Given the description of an element on the screen output the (x, y) to click on. 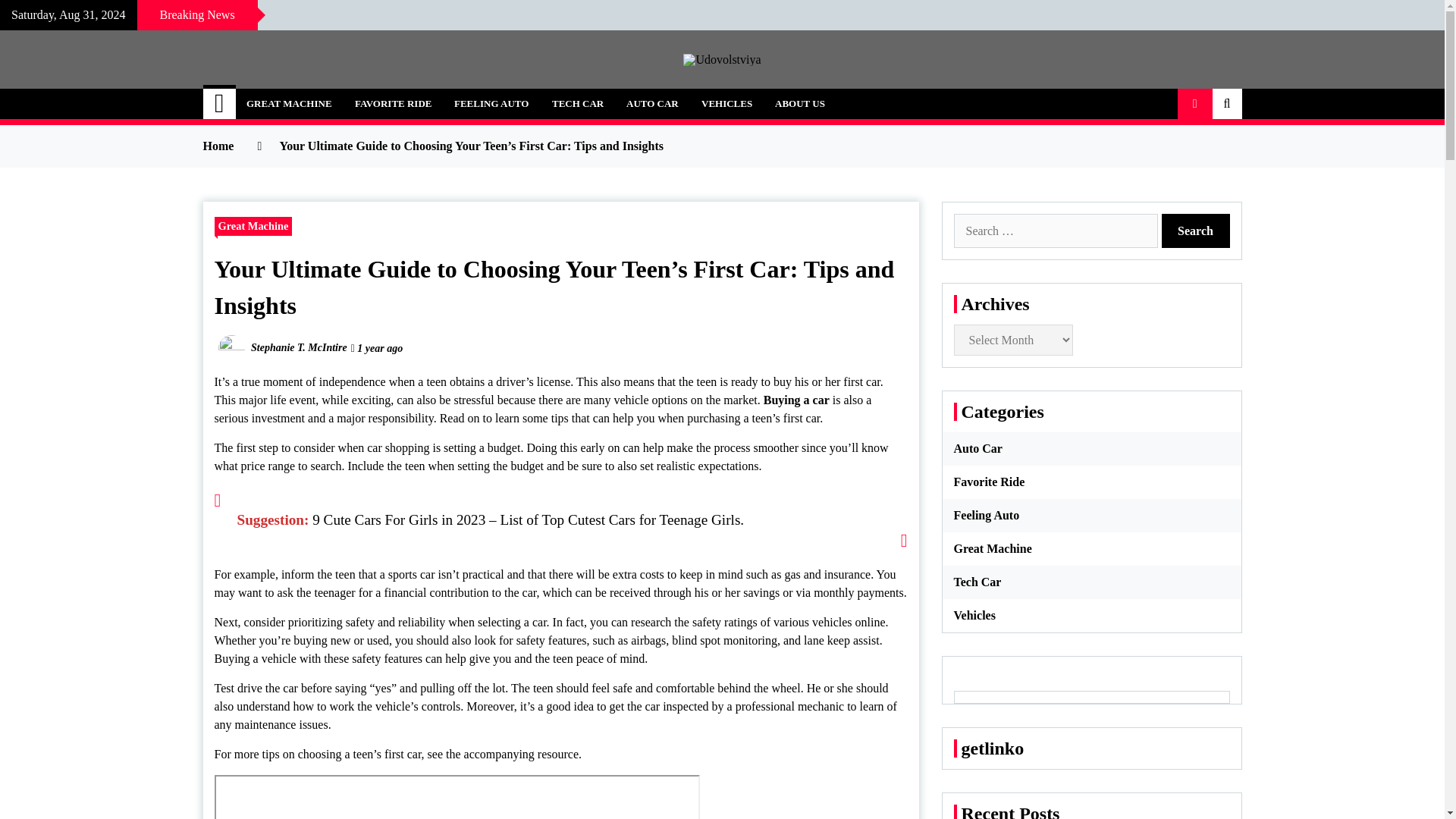
Search (1195, 230)
VEHICLES (726, 103)
Udovolstviya (300, 95)
Home (219, 103)
Search (1195, 230)
FAVORITE RIDE (392, 103)
FEELING AUTO (491, 103)
AUTO CAR (652, 103)
TECH CAR (577, 103)
GREAT MACHINE (288, 103)
